Given the description of an element on the screen output the (x, y) to click on. 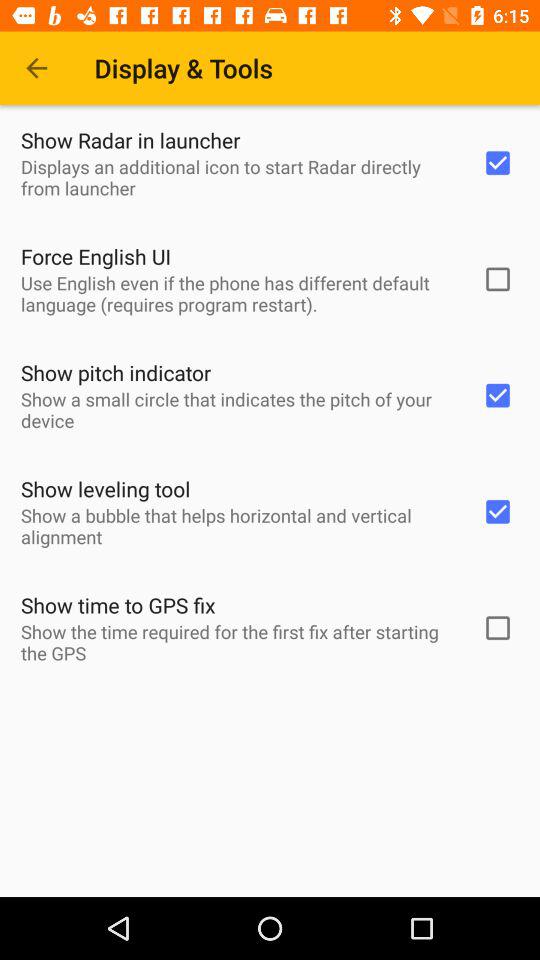
open icon above the show a bubble item (105, 488)
